Given the description of an element on the screen output the (x, y) to click on. 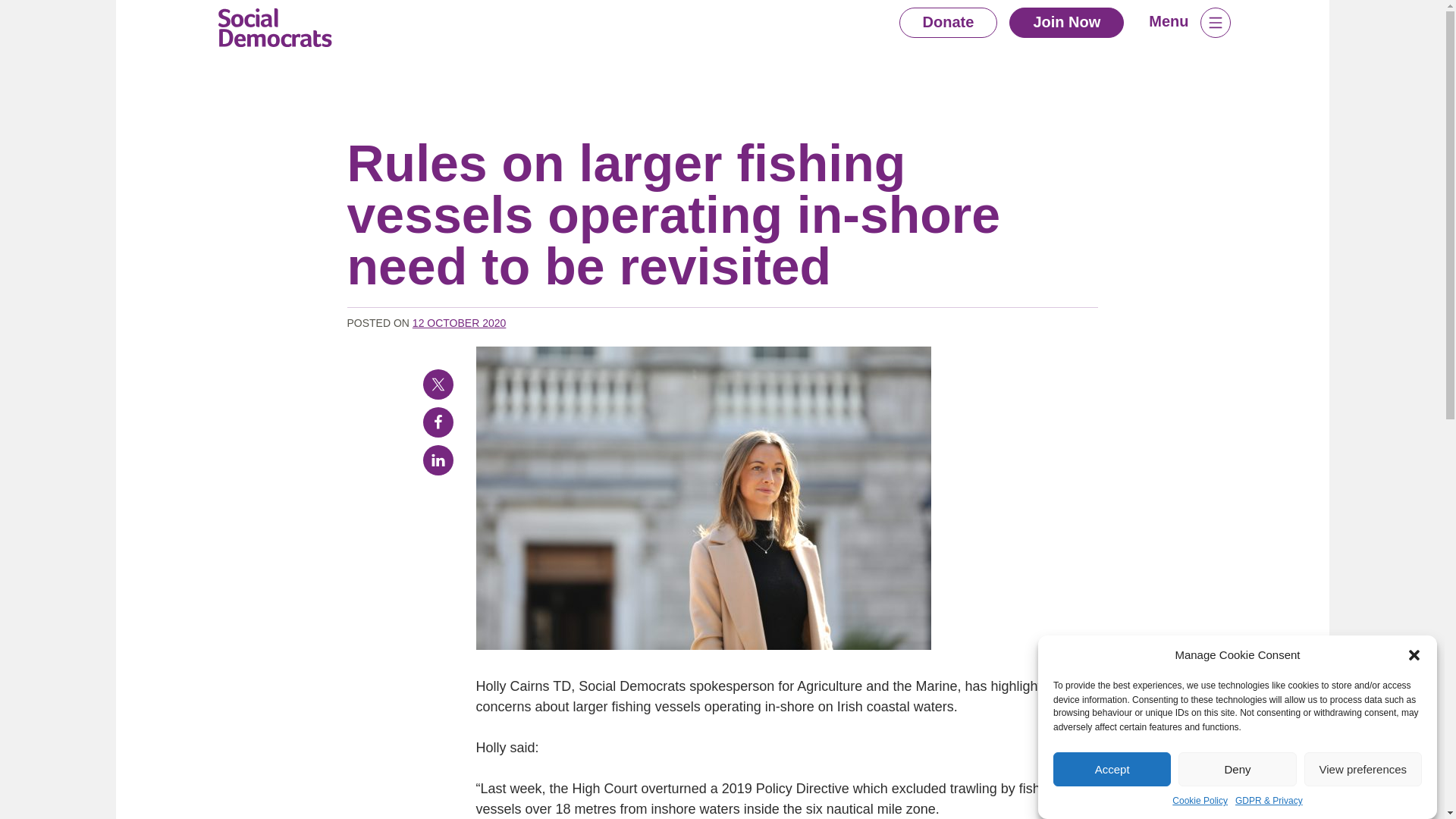
Share on Twitter (437, 384)
Donate (948, 22)
Menu (1189, 22)
Share on LinkedIn (437, 460)
Social Democrats (274, 27)
12 OCTOBER 2020 (458, 322)
Share on Facebook (437, 422)
Join Now (1066, 22)
